Given the description of an element on the screen output the (x, y) to click on. 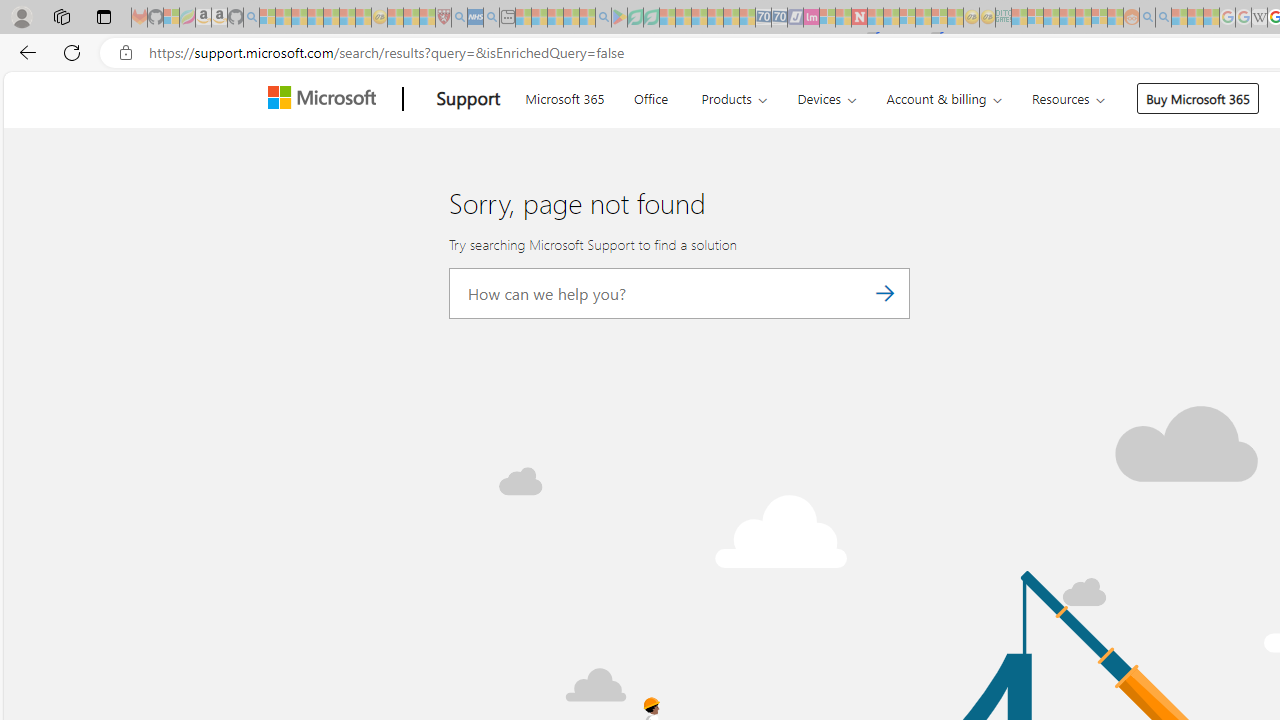
Support (468, 99)
Buy Microsoft 365 (1197, 97)
utah sues federal government - Search - Sleeping (491, 17)
MSNBC - MSN - Sleeping (1019, 17)
Microsoft (326, 99)
Kinda Frugal - MSN - Sleeping (1083, 17)
